Given the description of an element on the screen output the (x, y) to click on. 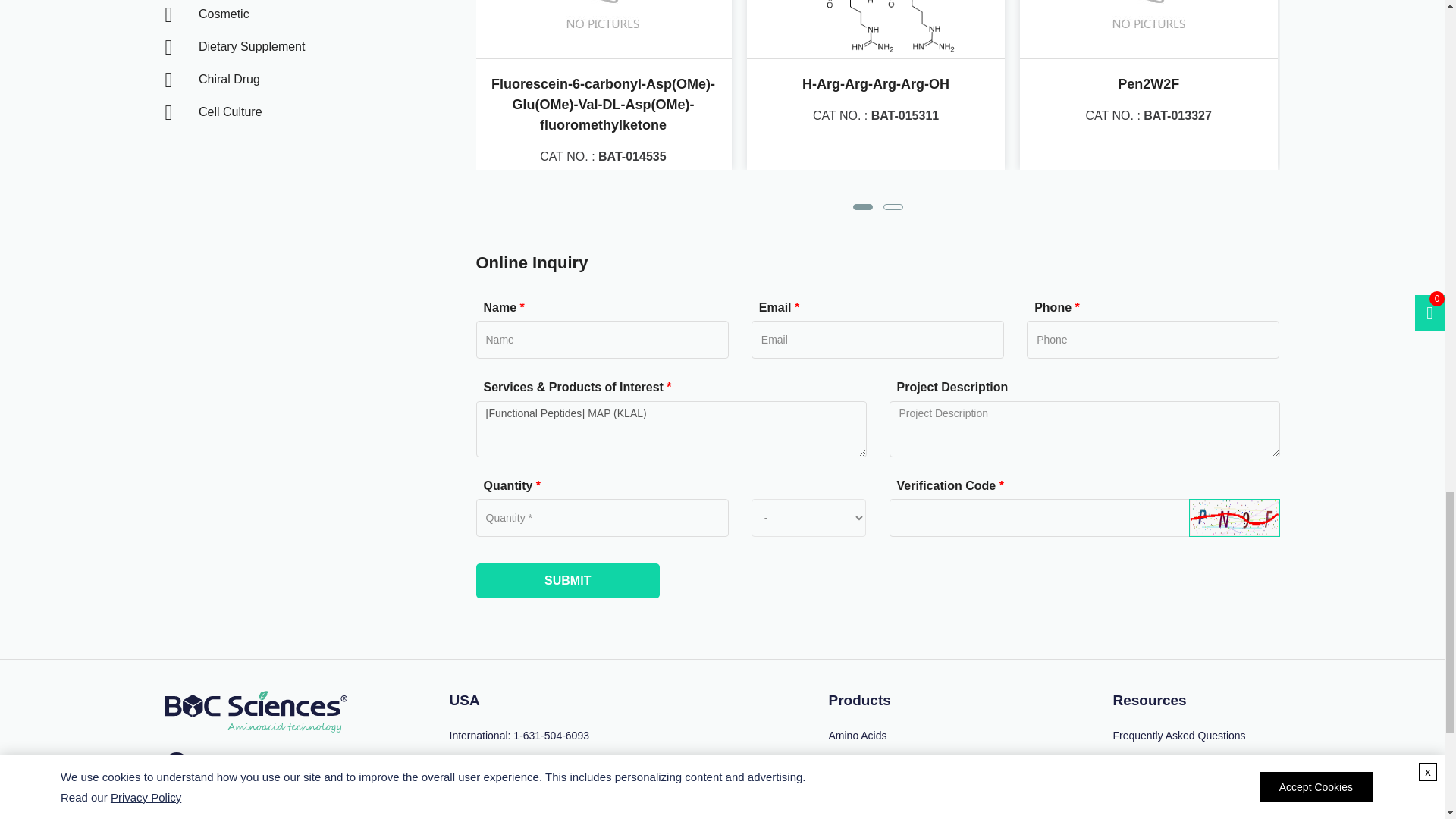
Click refresh (1234, 517)
